Given the description of an element on the screen output the (x, y) to click on. 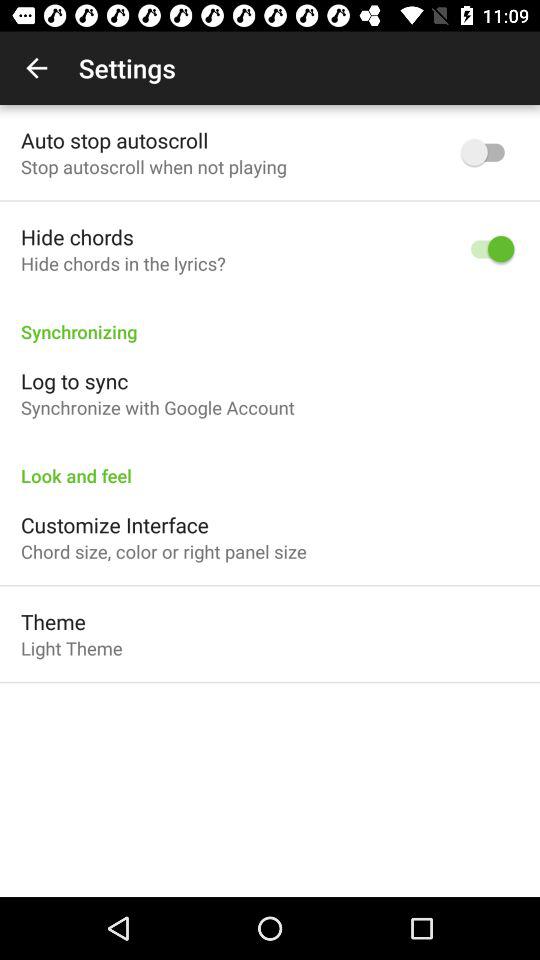
scroll to customize interface icon (114, 524)
